Given the description of an element on the screen output the (x, y) to click on. 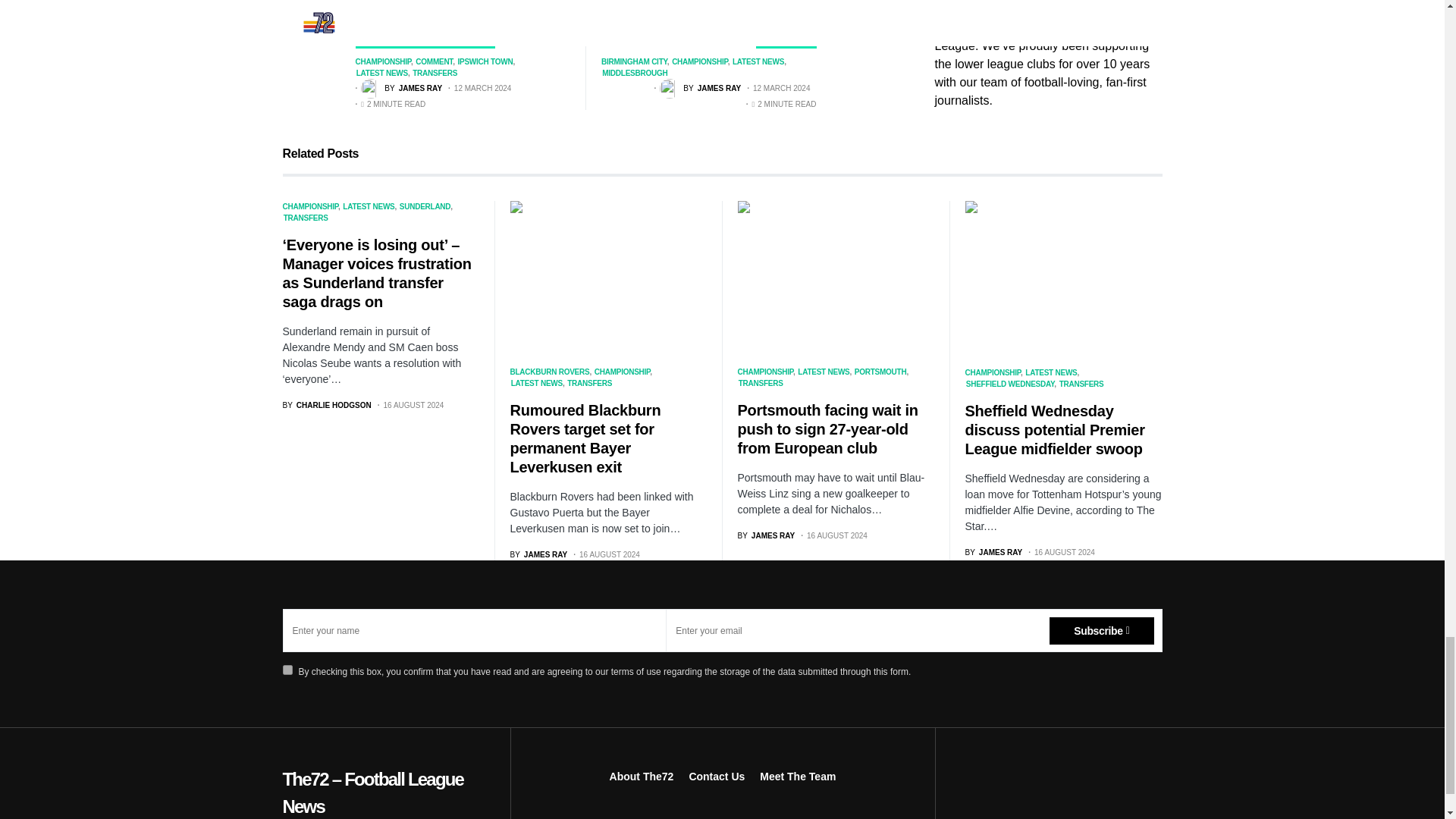
View all posts by James Ray (700, 88)
View all posts by James Ray (765, 535)
View all posts by Charlie Hodgson (326, 405)
View all posts by James Ray (538, 554)
View all posts by James Ray (401, 88)
View all posts by James Ray (992, 552)
on (287, 669)
